Given the description of an element on the screen output the (x, y) to click on. 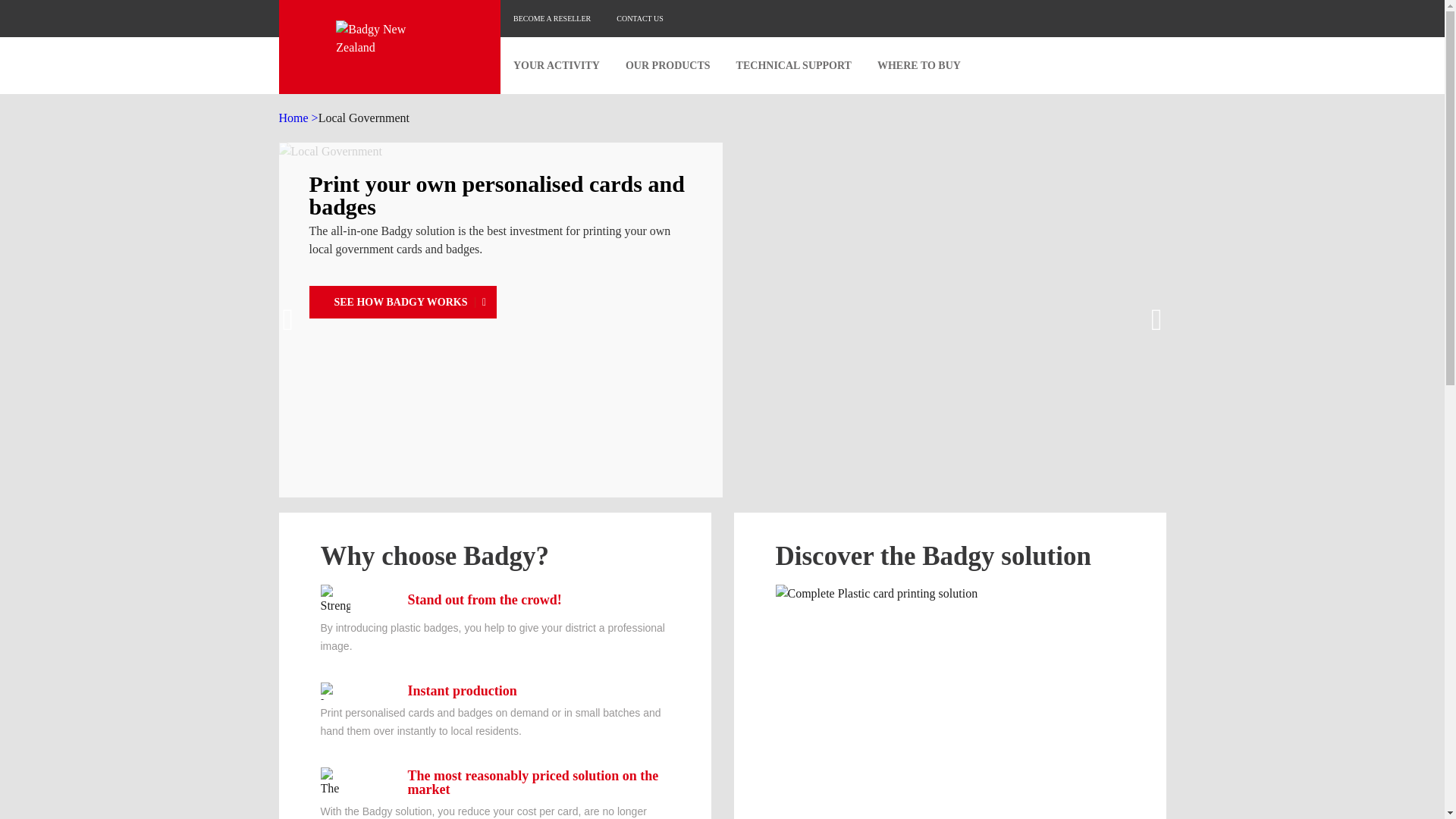
YOUR ACTIVITY (556, 65)
SEE HOW BADGY WORKS (402, 301)
OUR PRODUCTS (667, 65)
WHERE TO BUY (919, 65)
TECHNICAL SUPPORT (793, 65)
CONTACT US (640, 18)
BECOME A RESELLER (552, 18)
